Given the description of an element on the screen output the (x, y) to click on. 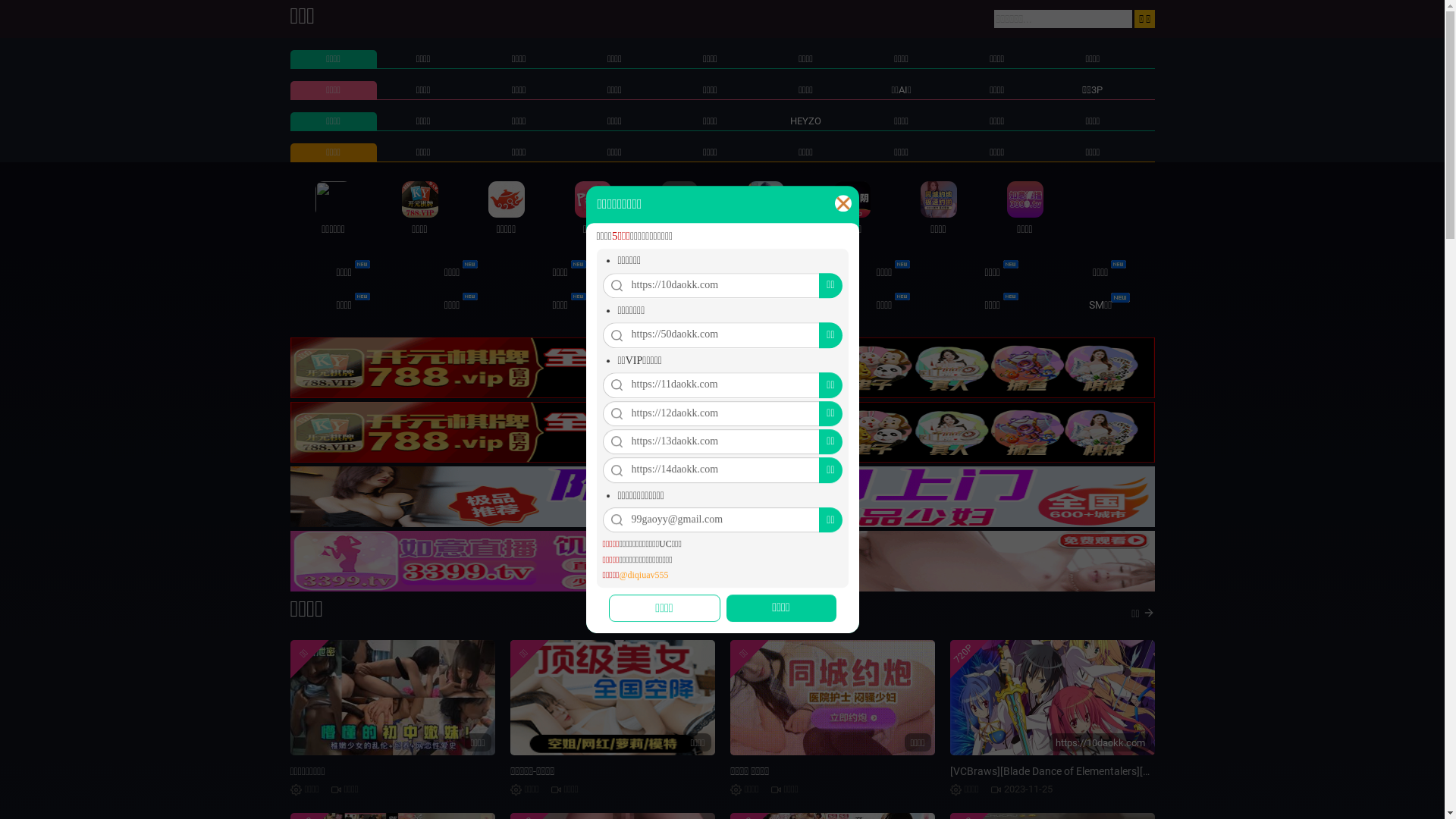
HEYZO Element type: text (805, 120)
720P
https://10daokk.com Element type: text (1051, 697)
@diqiuav555 Element type: text (643, 574)
